Given the description of an element on the screen output the (x, y) to click on. 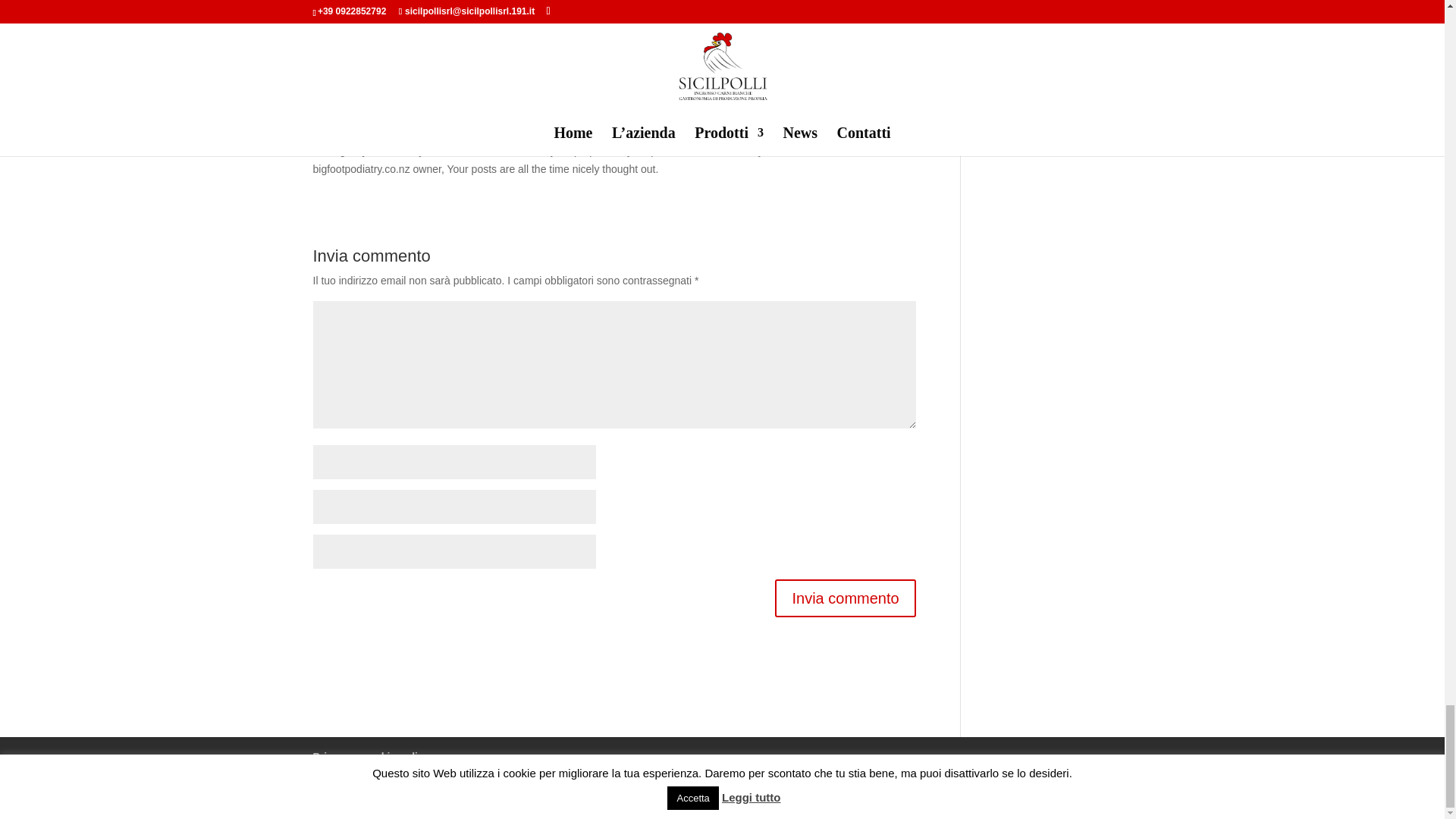
Invia commento (844, 598)
Invia commento (844, 598)
